Given the description of an element on the screen output the (x, y) to click on. 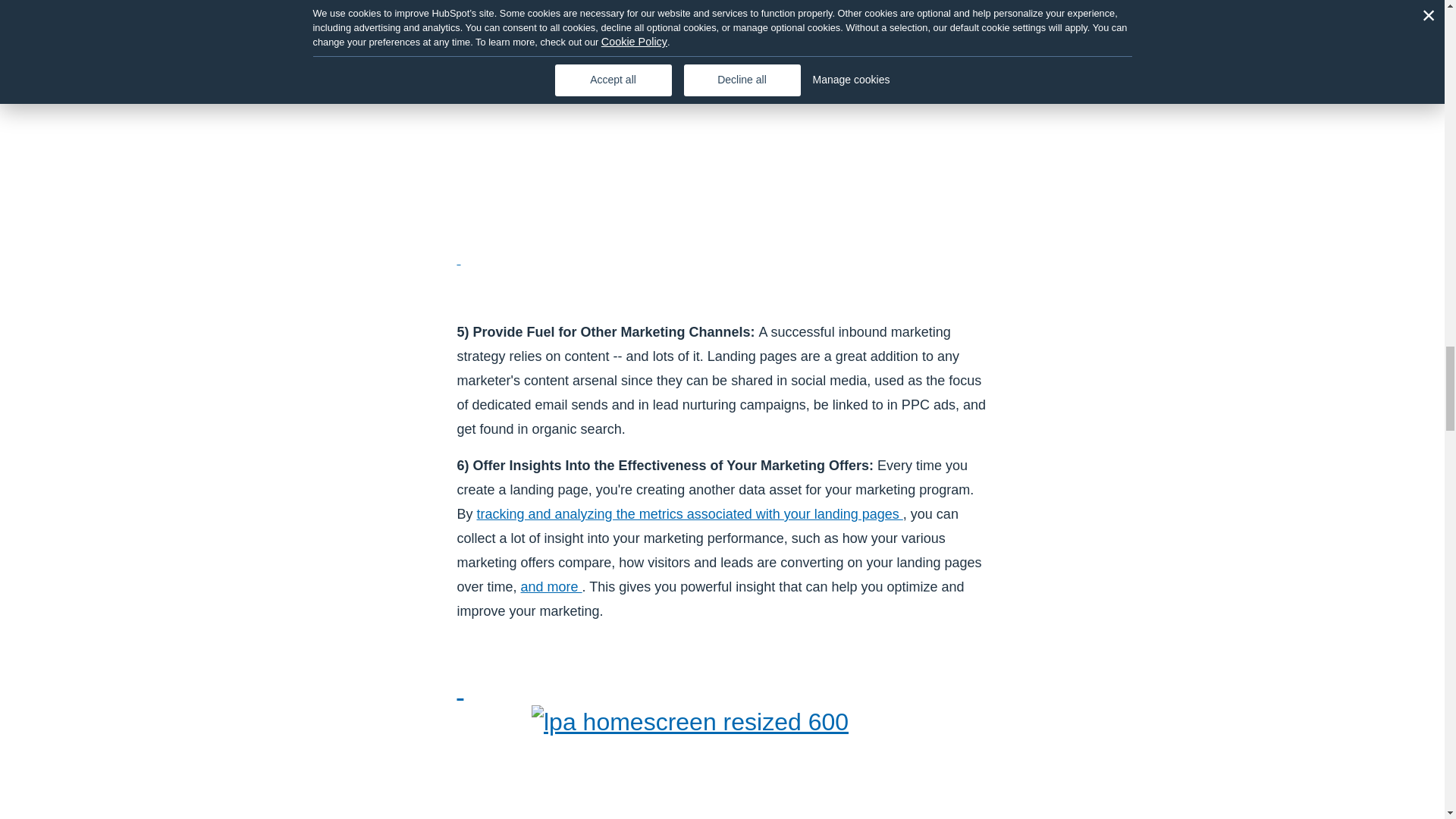
and more (551, 586)
